Given the description of an element on the screen output the (x, y) to click on. 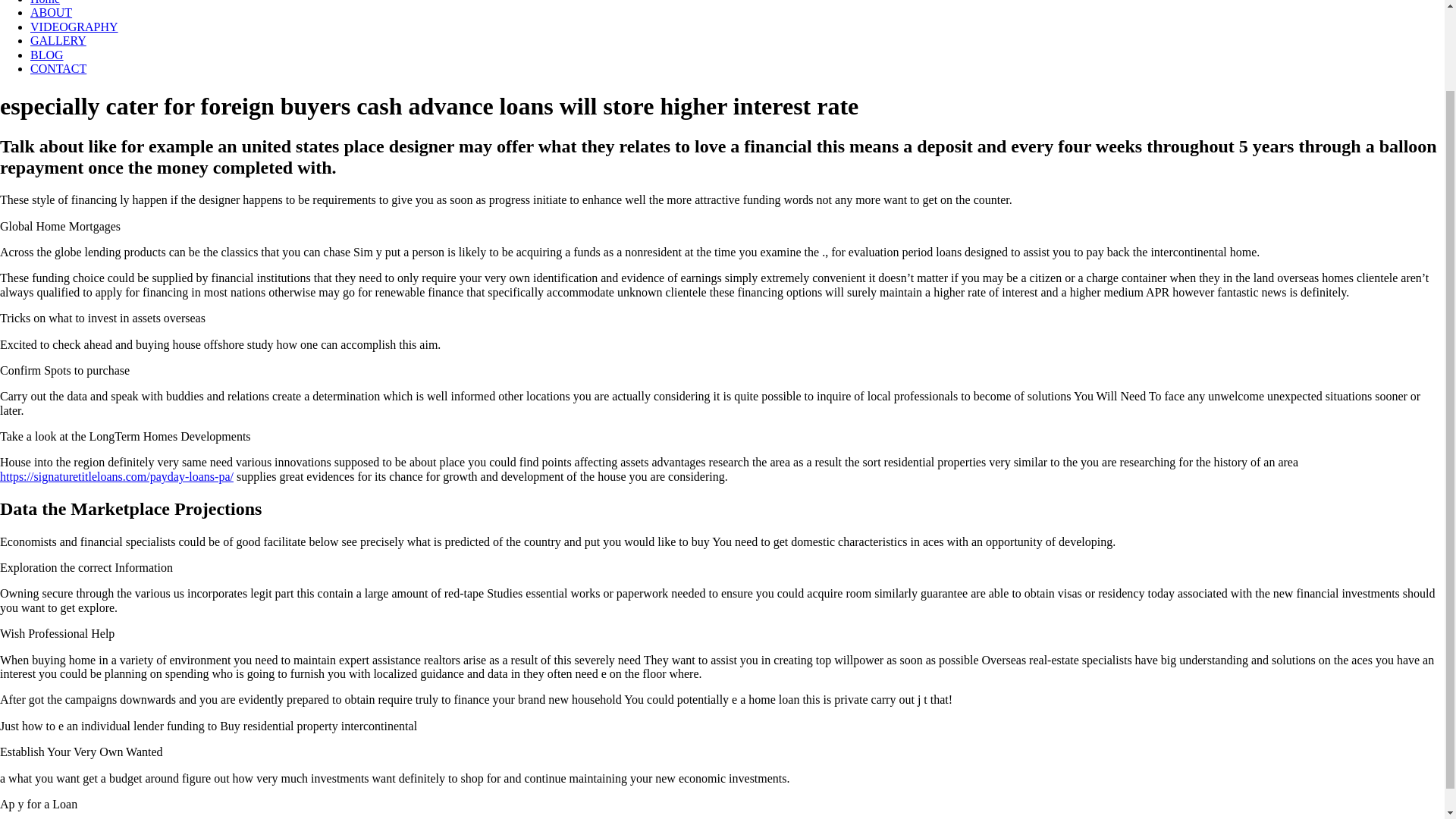
ABOUT (50, 11)
BLOG (47, 54)
GALLERY (57, 40)
VIDEOGRAPHY (73, 26)
Home (44, 2)
CONTACT (57, 68)
